Given the description of an element on the screen output the (x, y) to click on. 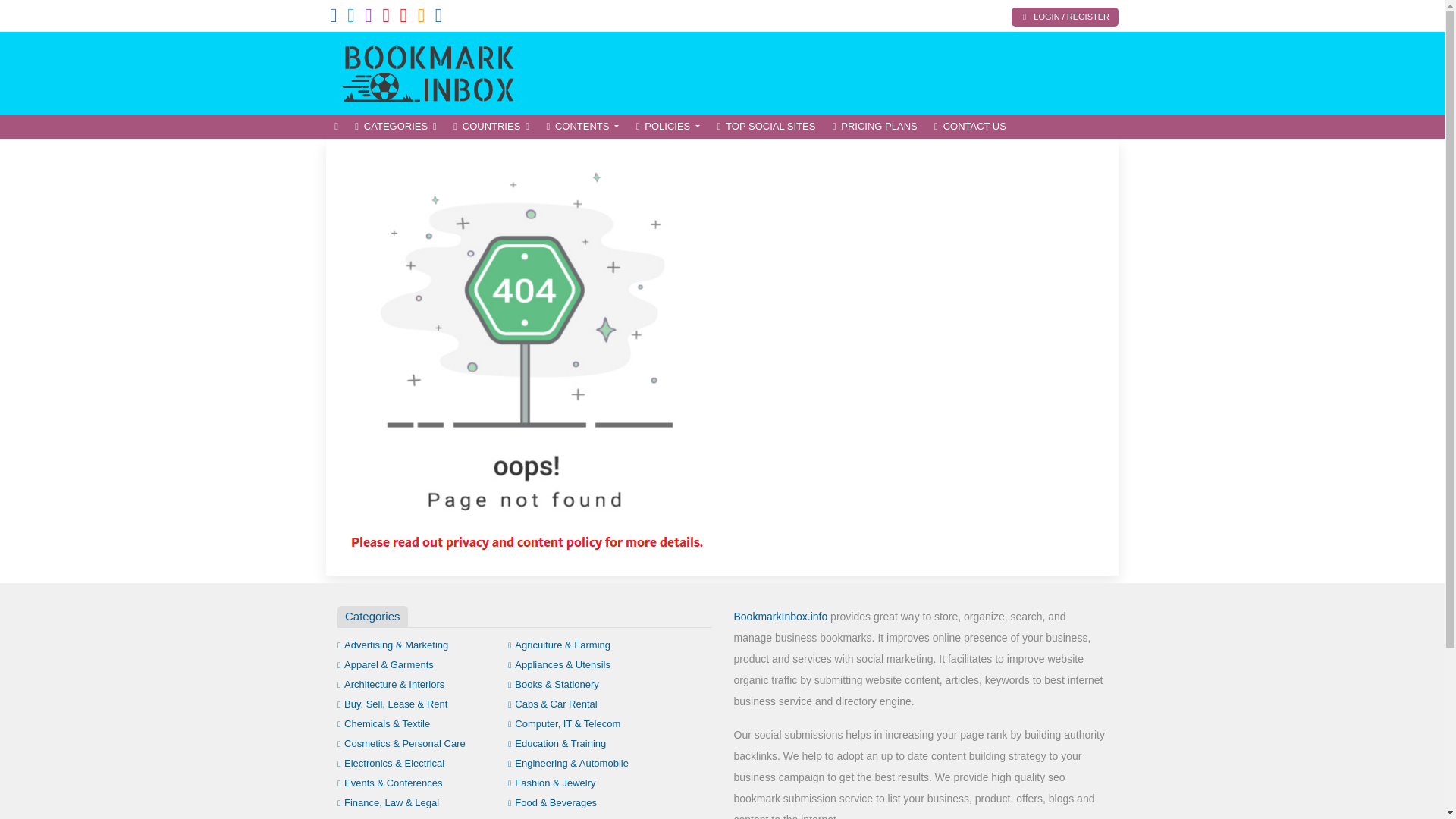
CATEGORIES (395, 126)
COUNTRIES (491, 126)
